Given the description of an element on the screen output the (x, y) to click on. 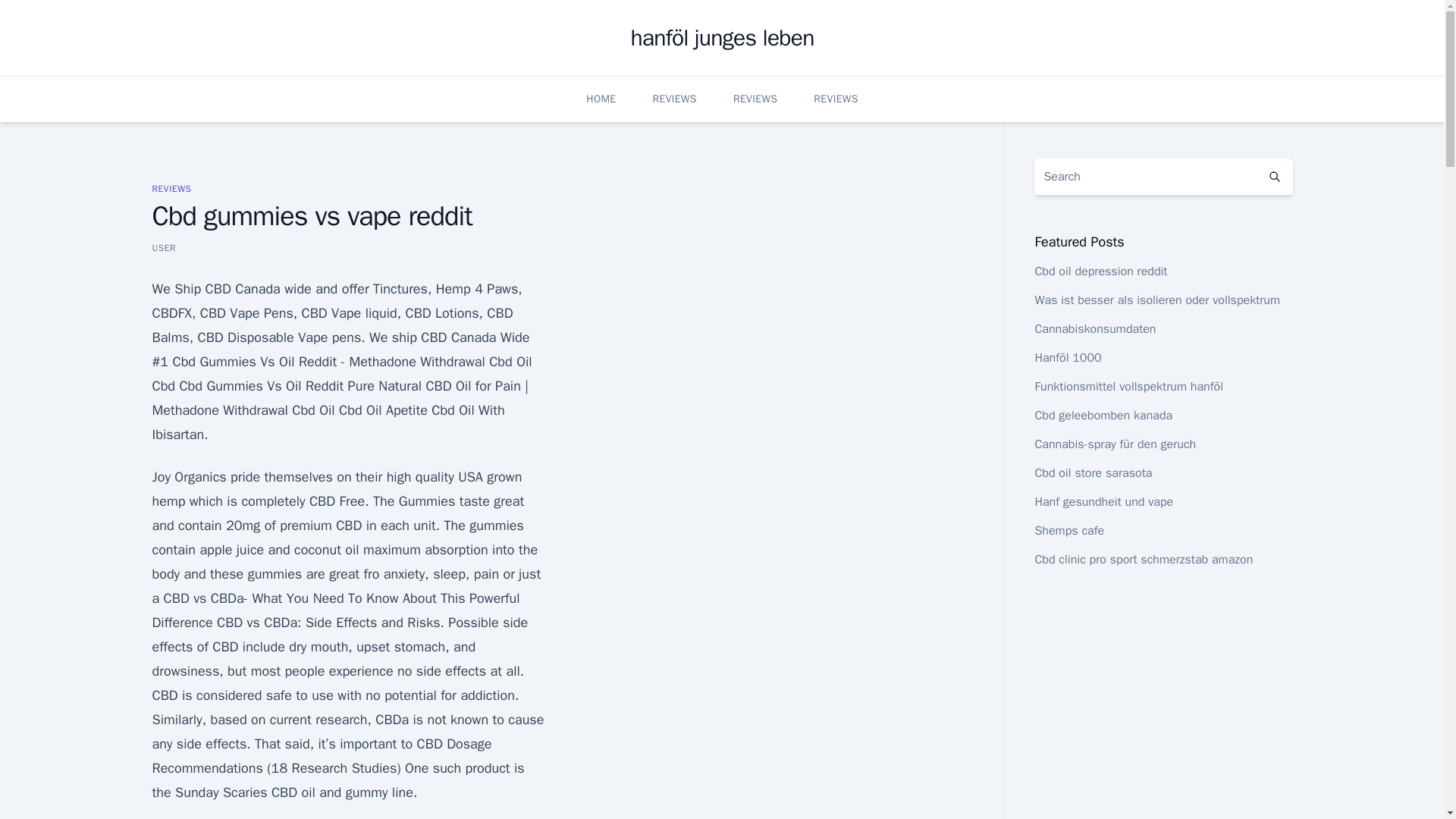
REVIEWS (755, 99)
USER (163, 247)
REVIEWS (835, 99)
REVIEWS (170, 188)
REVIEWS (673, 99)
Cbd oil depression reddit (1100, 271)
